Given the description of an element on the screen output the (x, y) to click on. 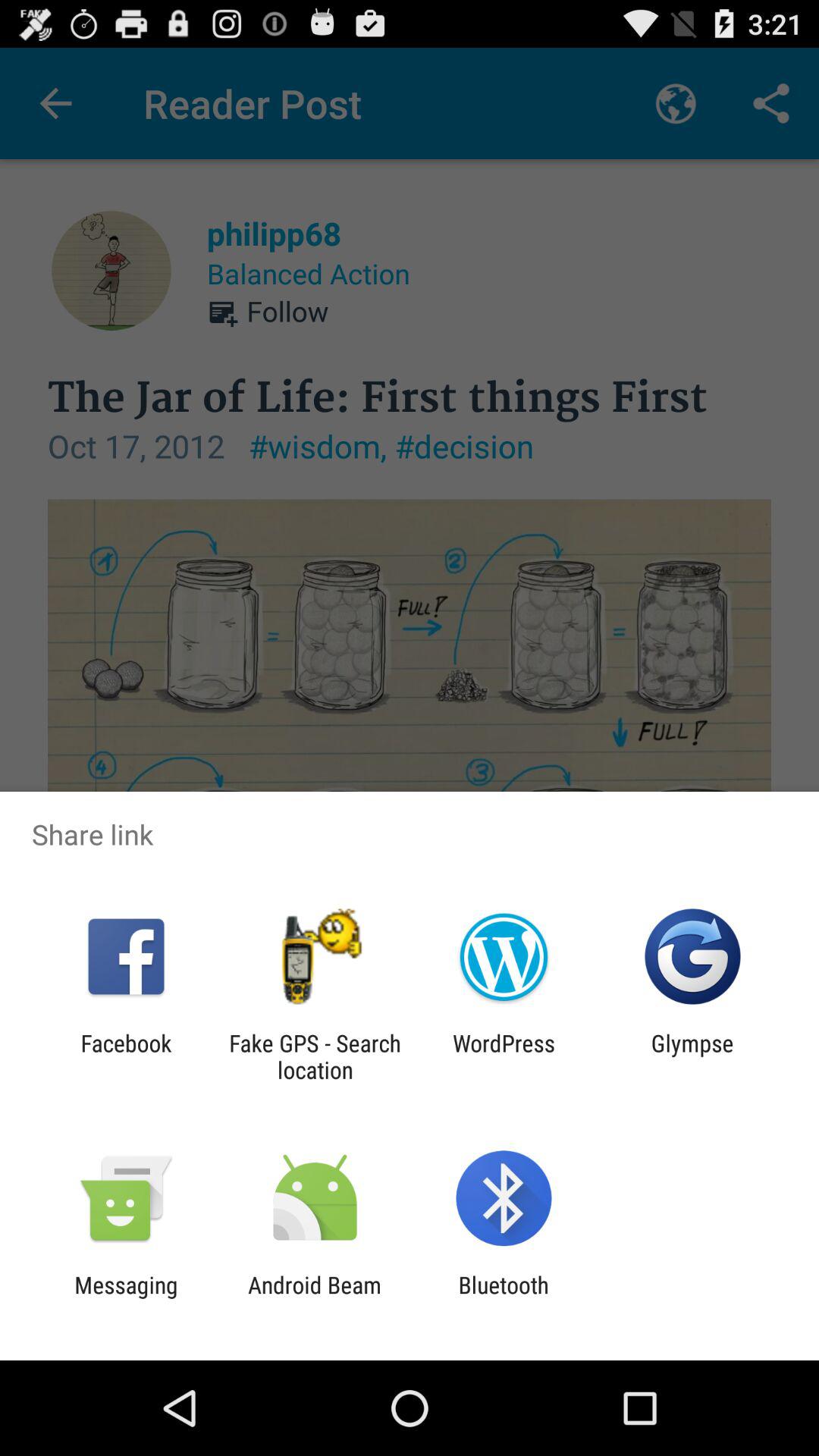
scroll until the android beam (314, 1298)
